Given the description of an element on the screen output the (x, y) to click on. 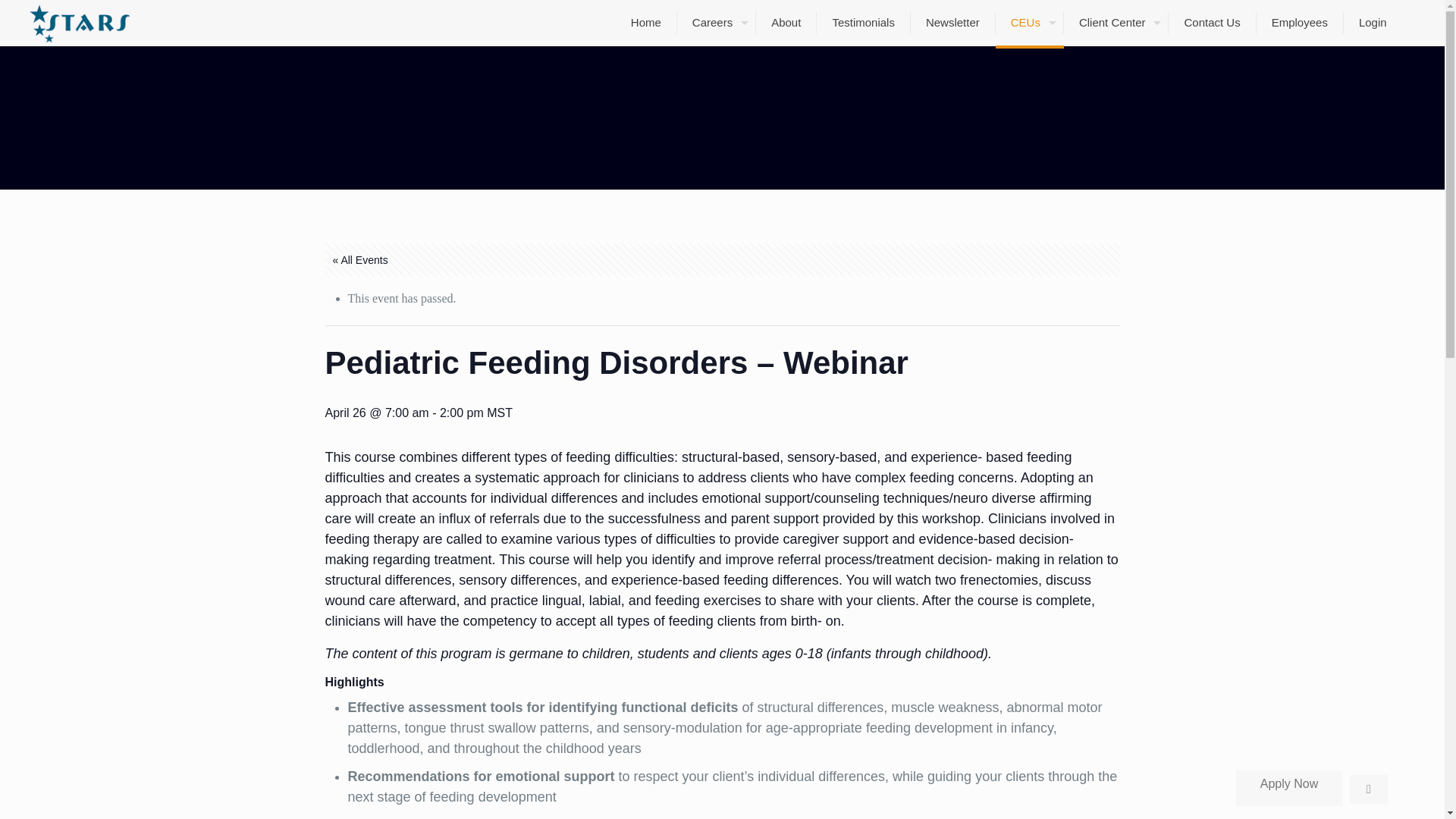
Testimonials (863, 22)
Newsletter (953, 22)
Contact Us (1212, 22)
STARS - Student Therapy and Resource Services (79, 22)
Login (1372, 22)
About (785, 22)
Home (646, 22)
Login (1372, 22)
Employees (1299, 22)
CEUs (1029, 22)
Client Center (1116, 22)
Careers (716, 22)
